Given the description of an element on the screen output the (x, y) to click on. 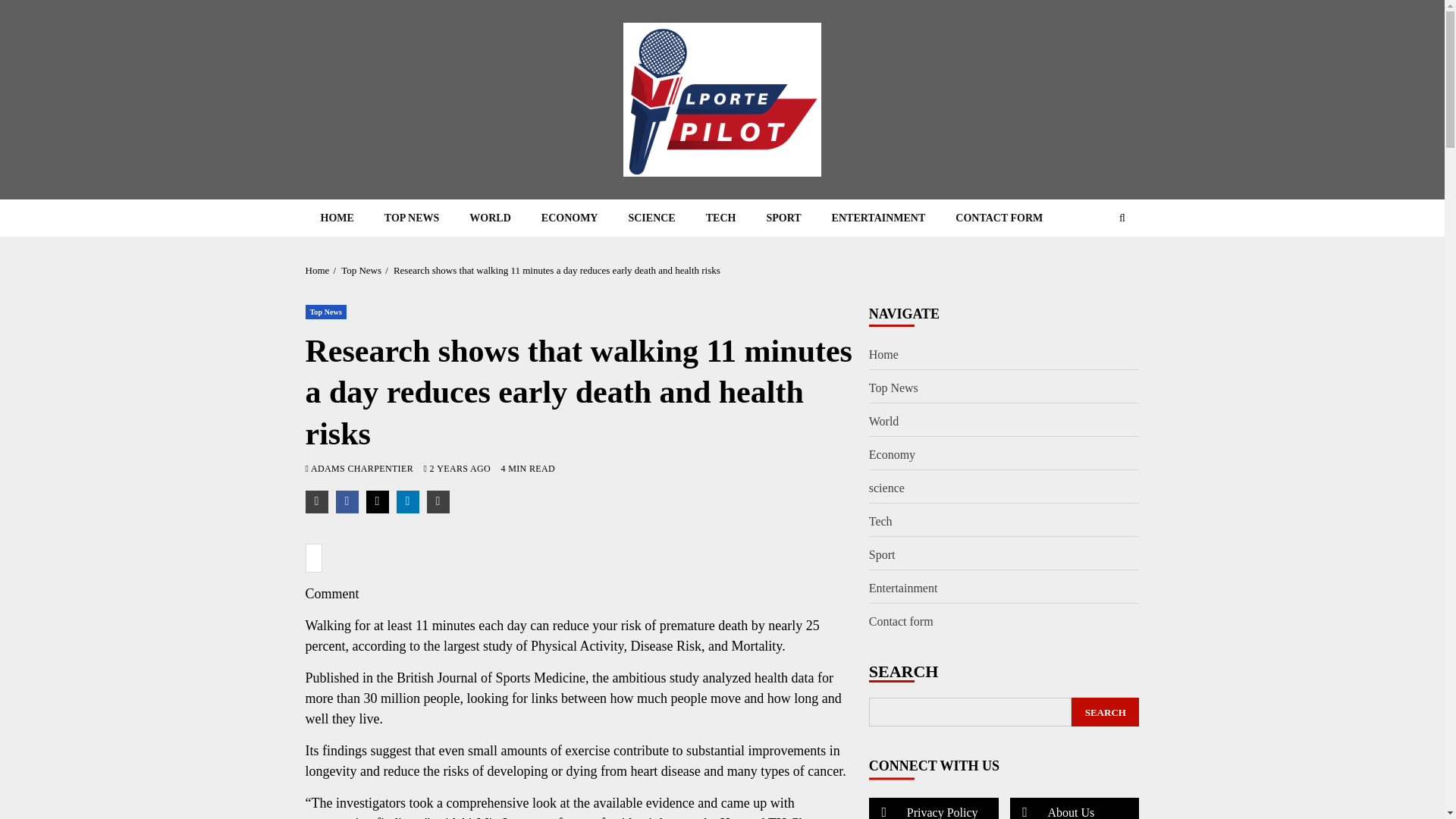
ECONOMY (568, 217)
Top News (325, 311)
Search (1092, 263)
CONTACT FORM (999, 217)
Top News (360, 270)
TECH (720, 217)
ENTERTAINMENT (878, 217)
SPORT (783, 217)
HOME (336, 217)
Home (316, 270)
